Given the description of an element on the screen output the (x, y) to click on. 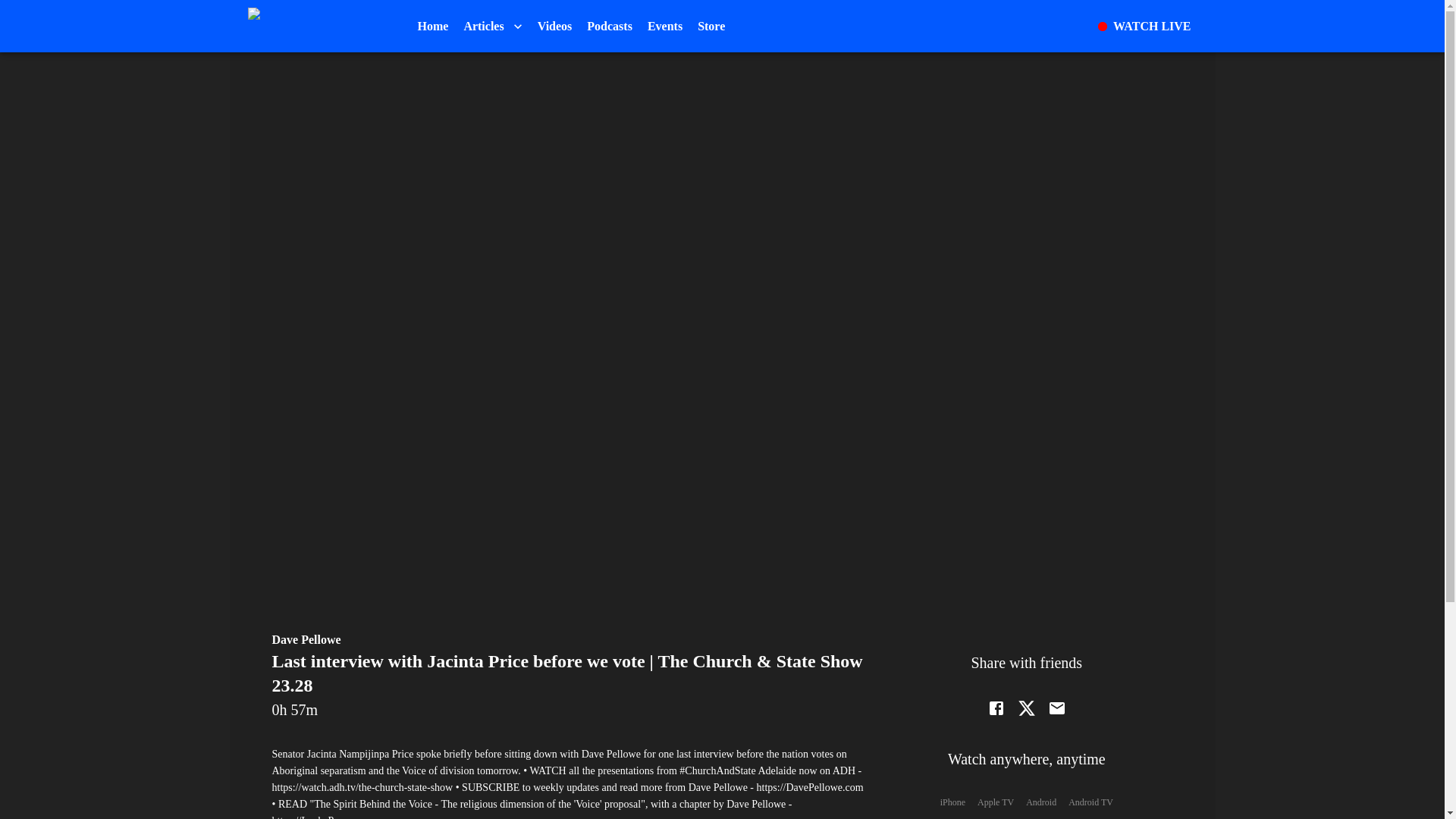
Podcasts (609, 26)
Videos (554, 26)
WATCH LIVE (1144, 26)
Events (665, 26)
iPhone (952, 802)
Podcasts (609, 26)
Dave Pellowe (305, 639)
Apple TV (994, 802)
Android (1041, 802)
watch live (1144, 26)
